Given the description of an element on the screen output the (x, y) to click on. 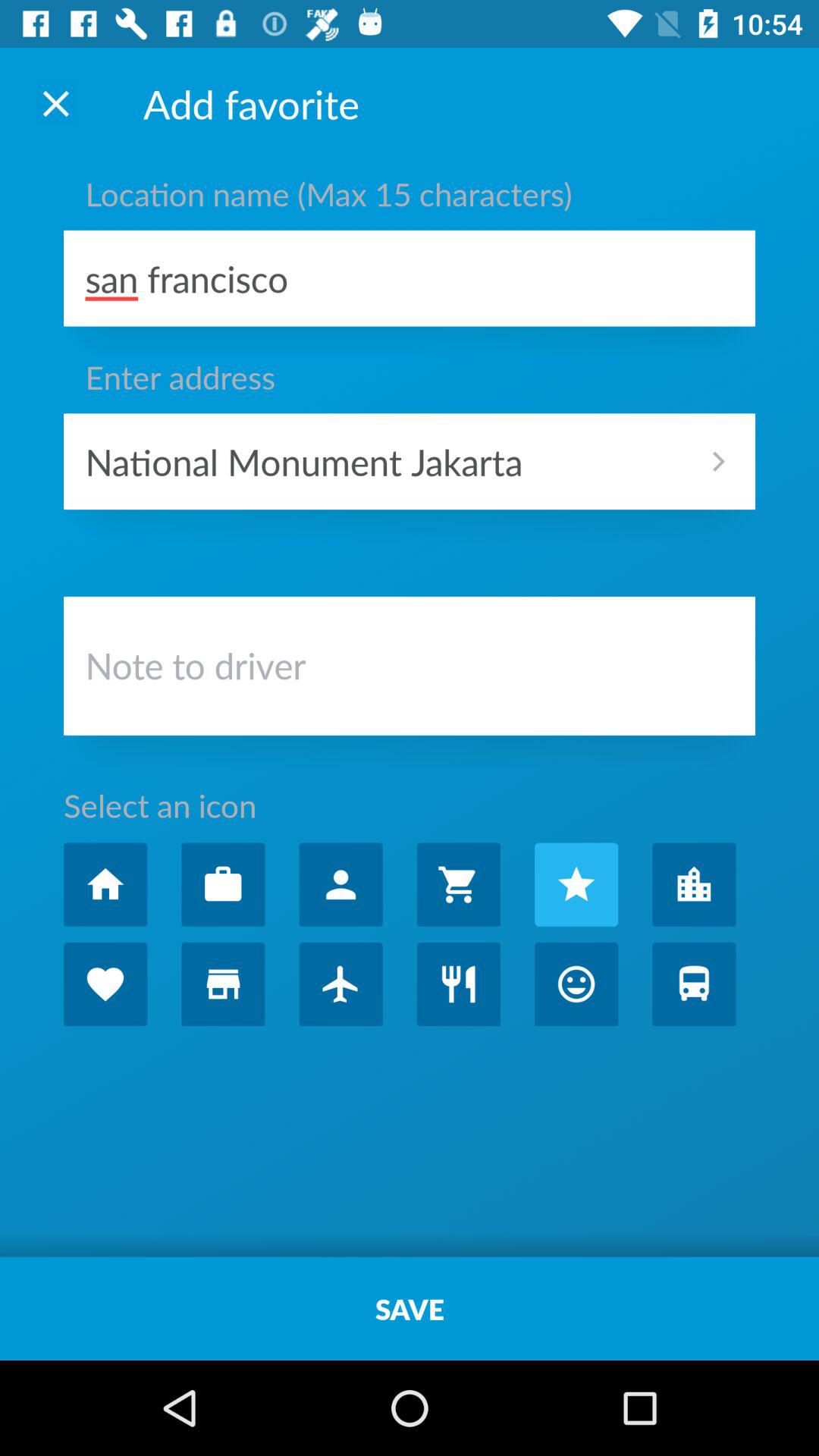
go to cart (458, 884)
